Given the description of an element on the screen output the (x, y) to click on. 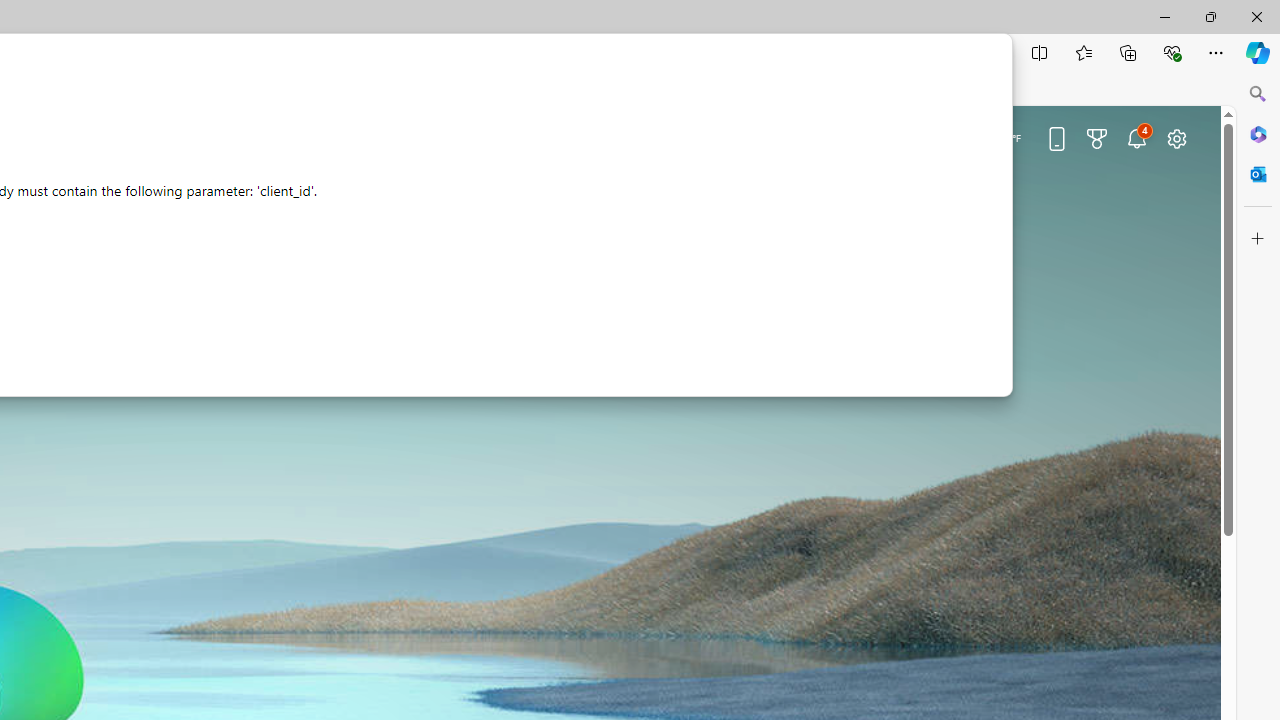
Click to sign into Microsoft Edge (827, 139)
LinkedIn (56, 363)
Cloudy (974, 137)
Add a site (311, 363)
Netflix (226, 363)
